Given the description of an element on the screen output the (x, y) to click on. 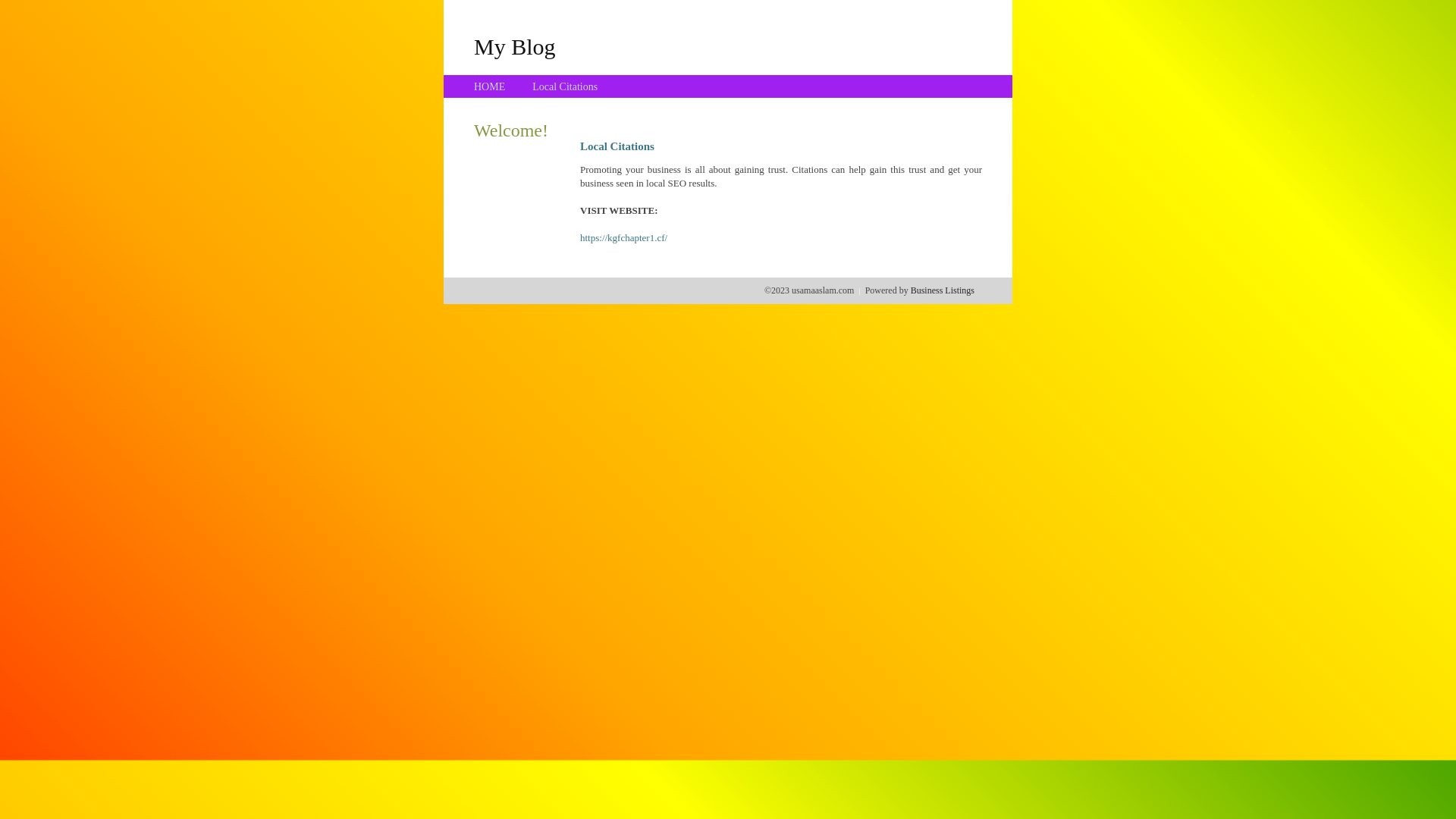
HOME Element type: text (489, 86)
https://kgfchapter1.cf/ Element type: text (623, 237)
My Blog Element type: text (514, 46)
Local Citations Element type: text (564, 86)
Business Listings Element type: text (942, 290)
